Given the description of an element on the screen output the (x, y) to click on. 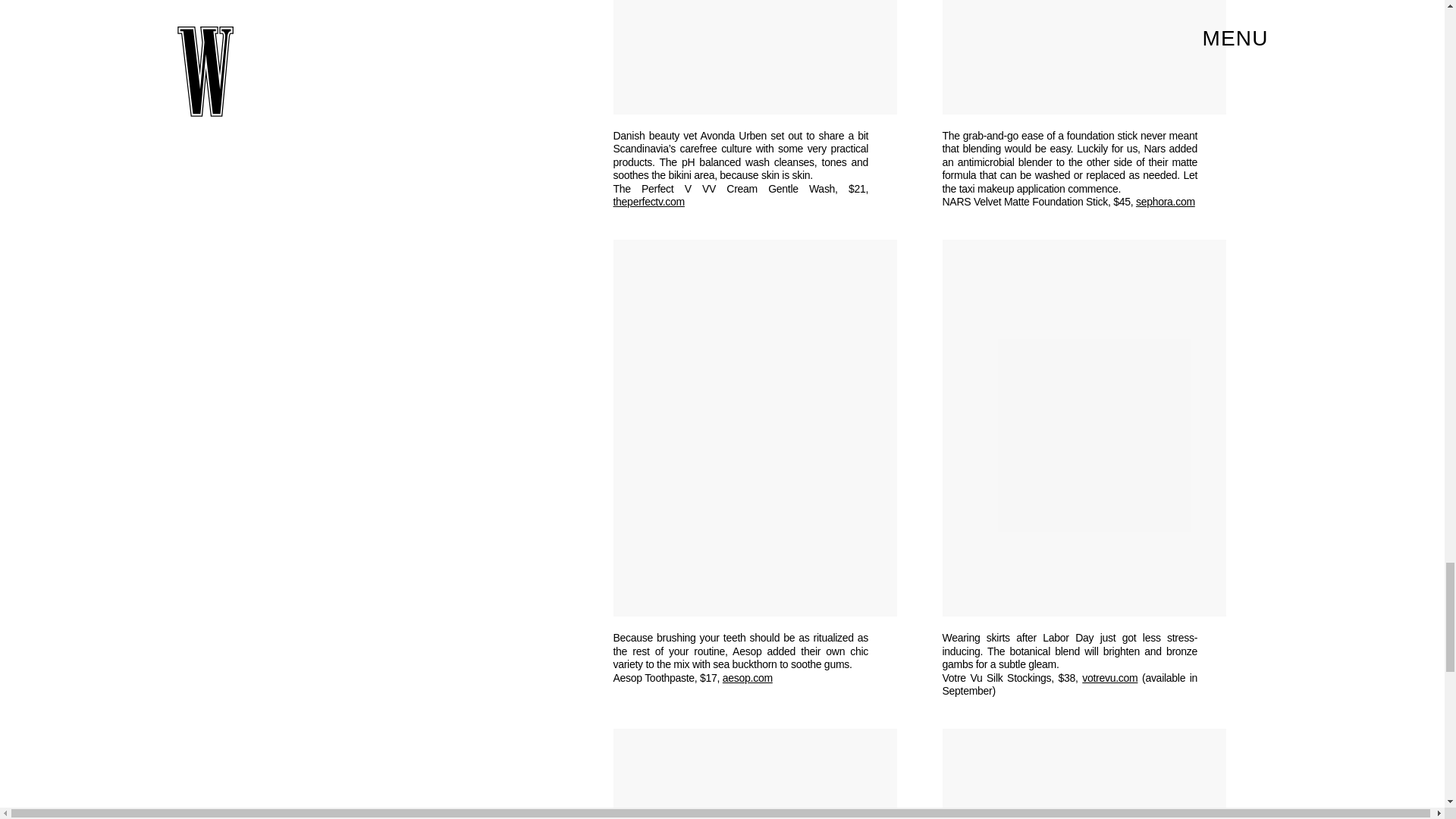
sephora.com (1165, 201)
votrevu.com (1109, 677)
theperfectv.com (648, 201)
aesop.com (747, 677)
